Given the description of an element on the screen output the (x, y) to click on. 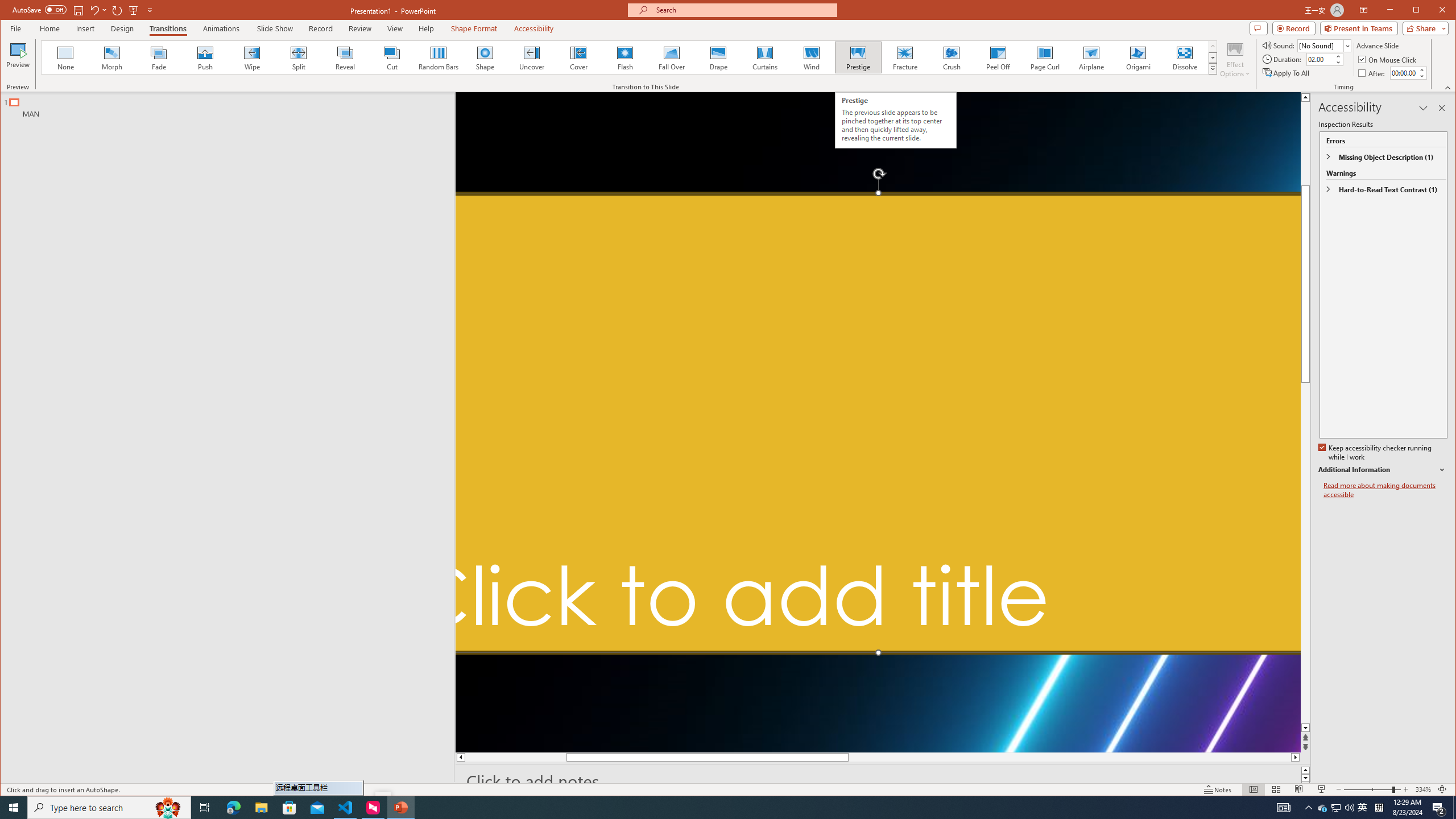
Prestige (857, 57)
Page Curl (1045, 57)
Apply To All (1286, 72)
Fracture (904, 57)
